Given the description of an element on the screen output the (x, y) to click on. 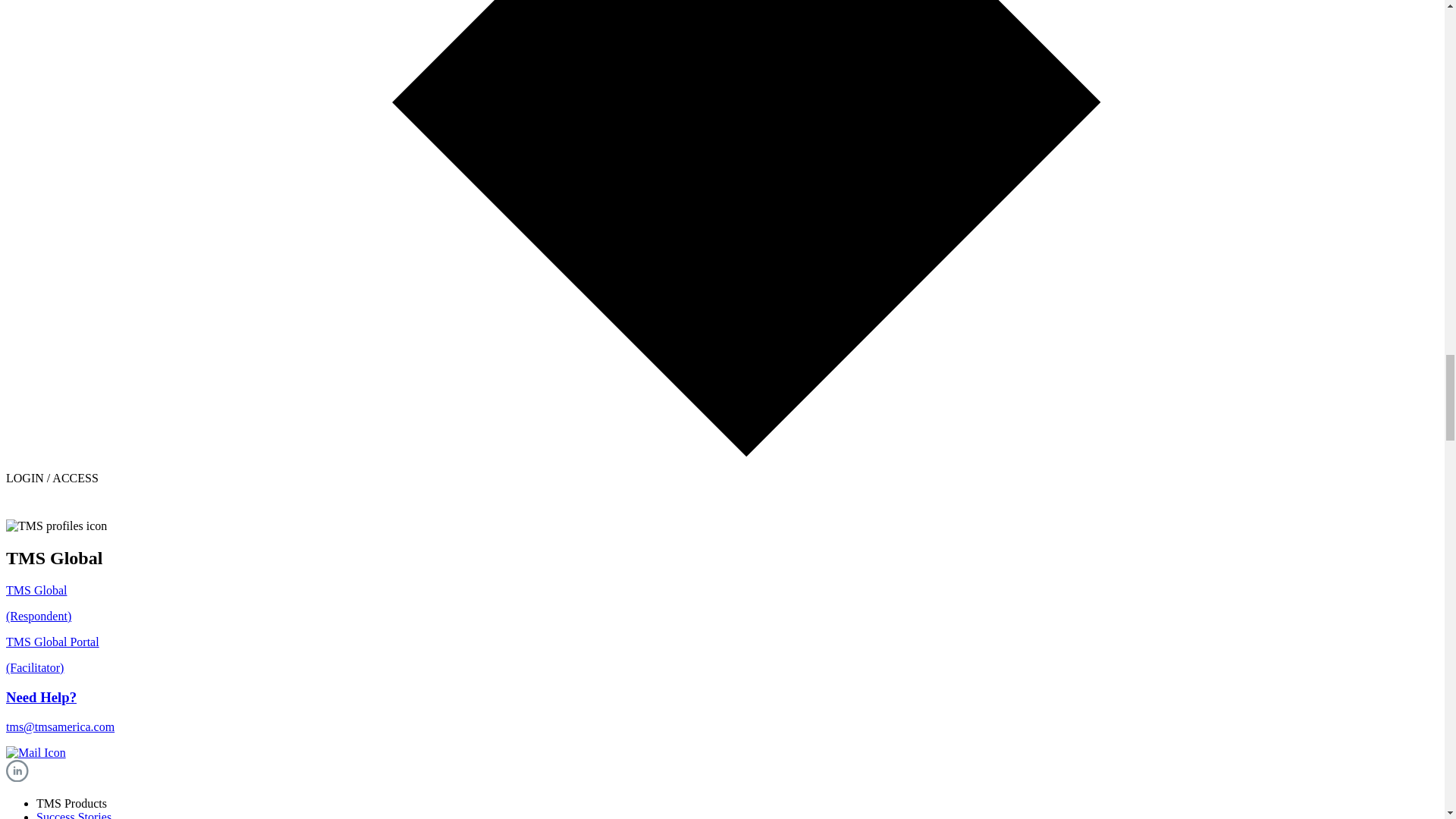
Success Stories (74, 814)
Go to our LinkedIn page (17, 777)
